Given the description of an element on the screen output the (x, y) to click on. 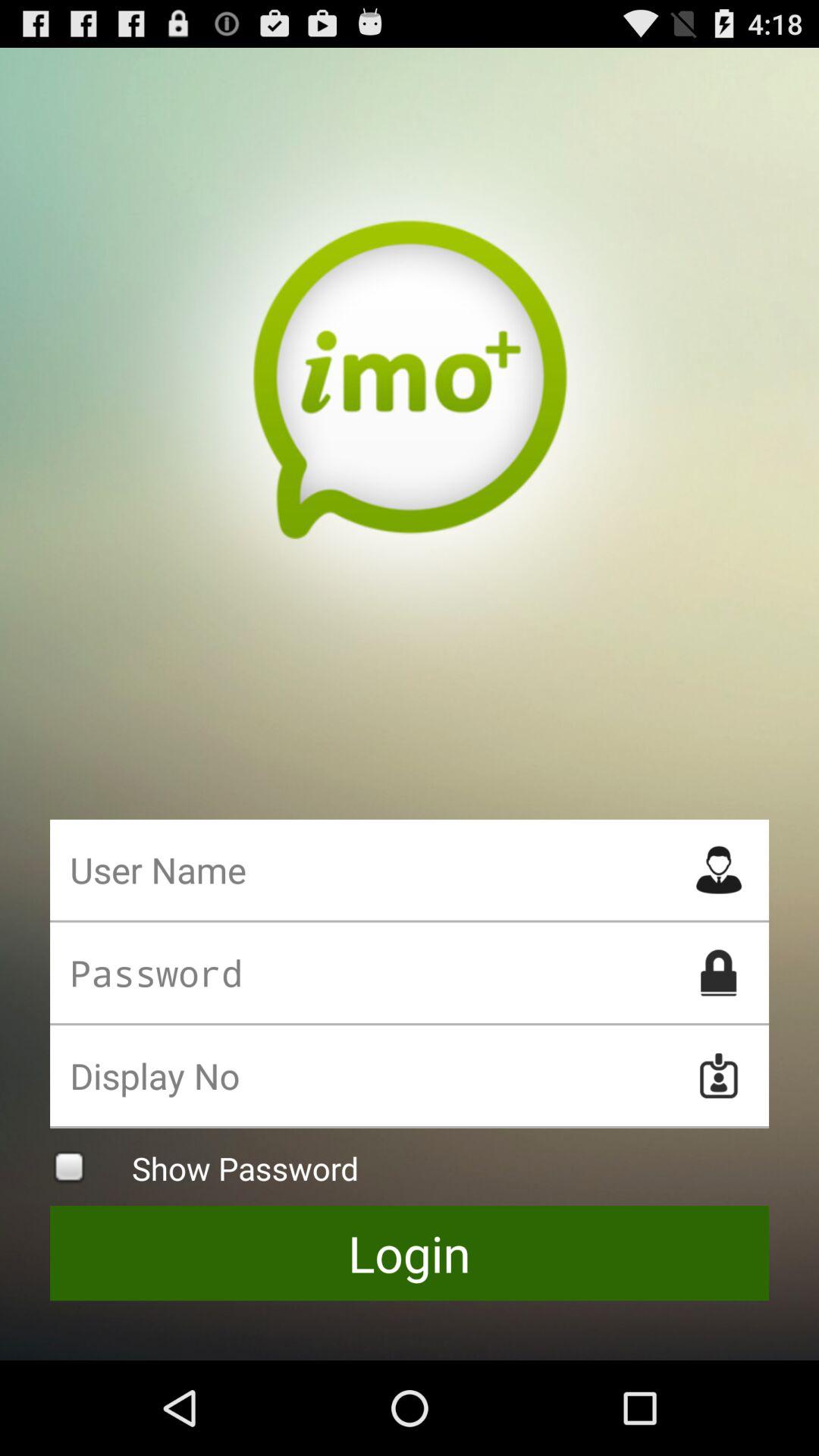
tap item below the show password item (409, 1252)
